Given the description of an element on the screen output the (x, y) to click on. 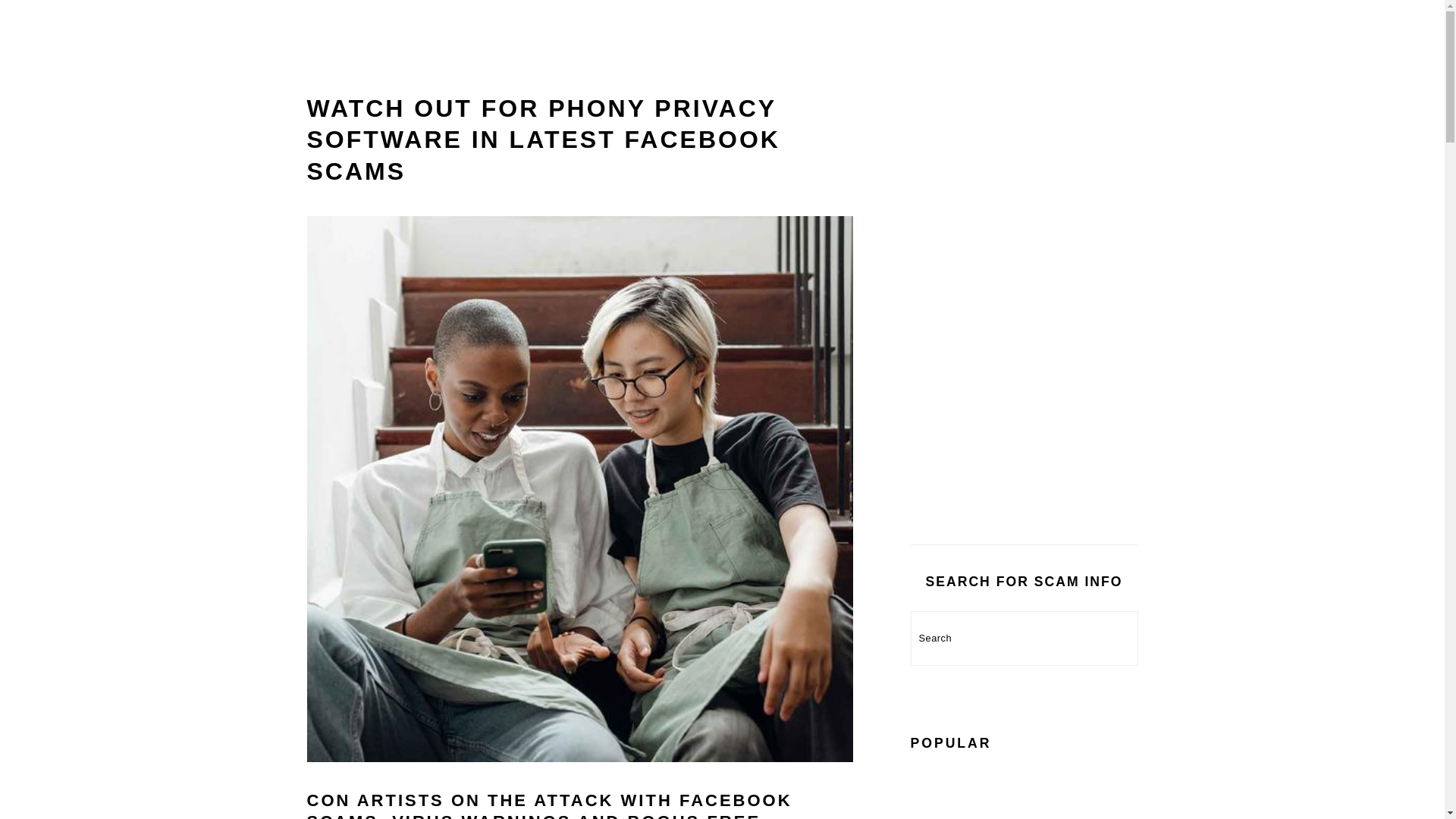
Protect Yourself Against Fake Home Security Systems (1084, 793)
Sextortion: What You Need to Know (963, 793)
Scambusters (721, 69)
Scambusters (721, 30)
